Given the description of an element on the screen output the (x, y) to click on. 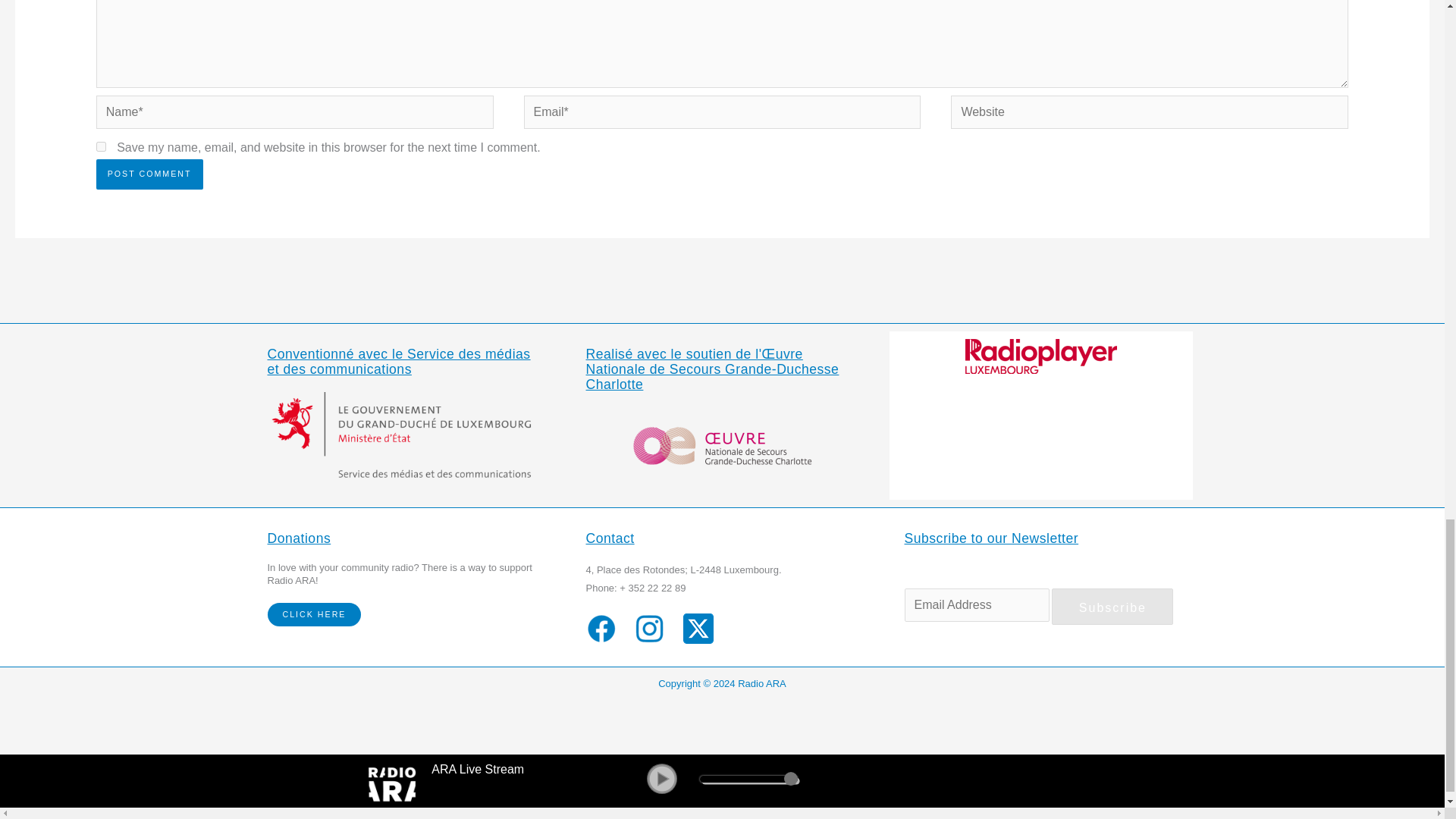
Logo OEUVRE RVB 2019 1 (721, 445)
yes (101, 146)
Post Comment (149, 173)
